Given the description of an element on the screen output the (x, y) to click on. 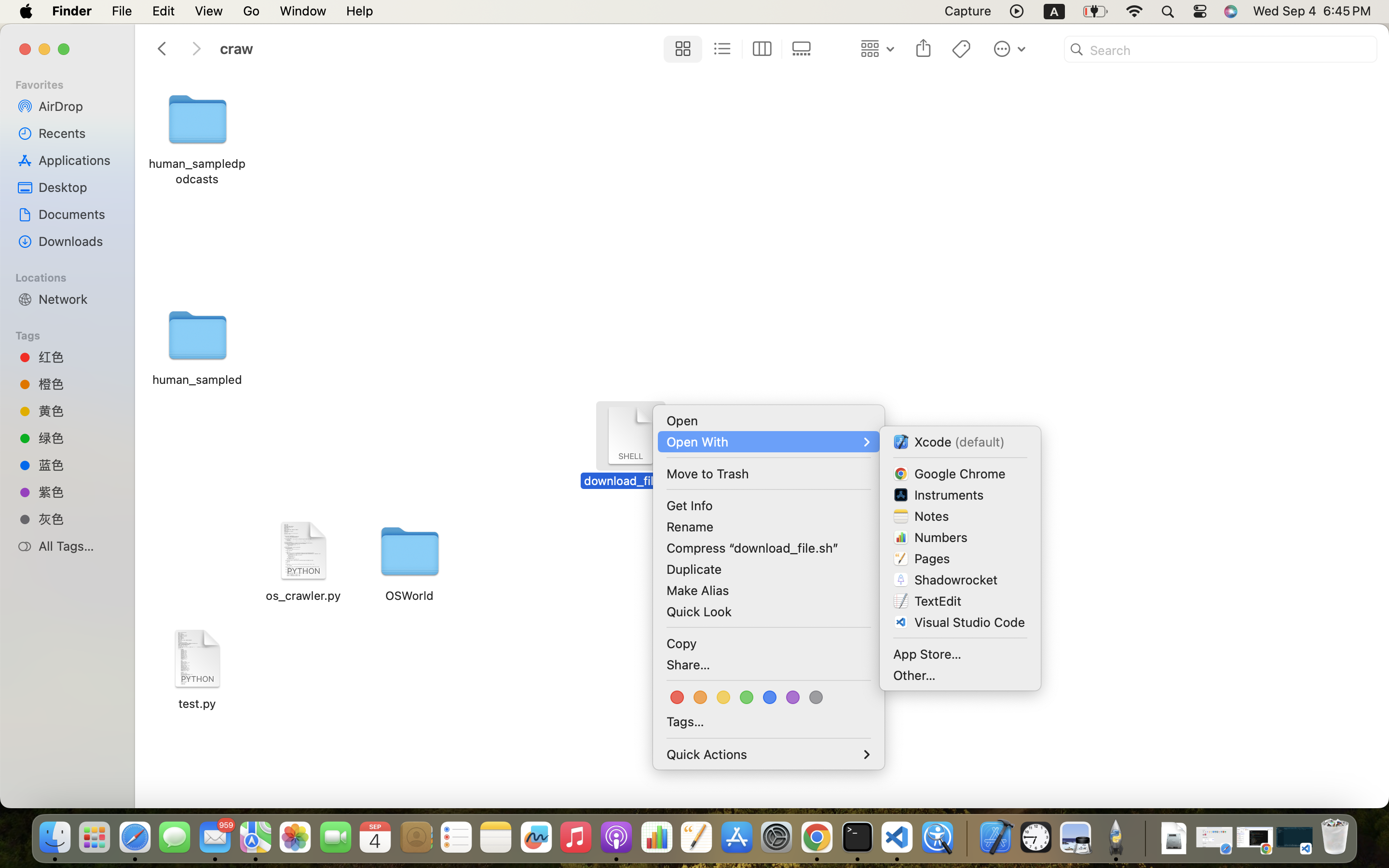
蓝色 Element type: AXStaticText (77, 464)
Downloads Element type: AXStaticText (77, 240)
Desktop Element type: AXStaticText (77, 186)
黄色 Element type: AXStaticText (77, 410)
